Given the description of an element on the screen output the (x, y) to click on. 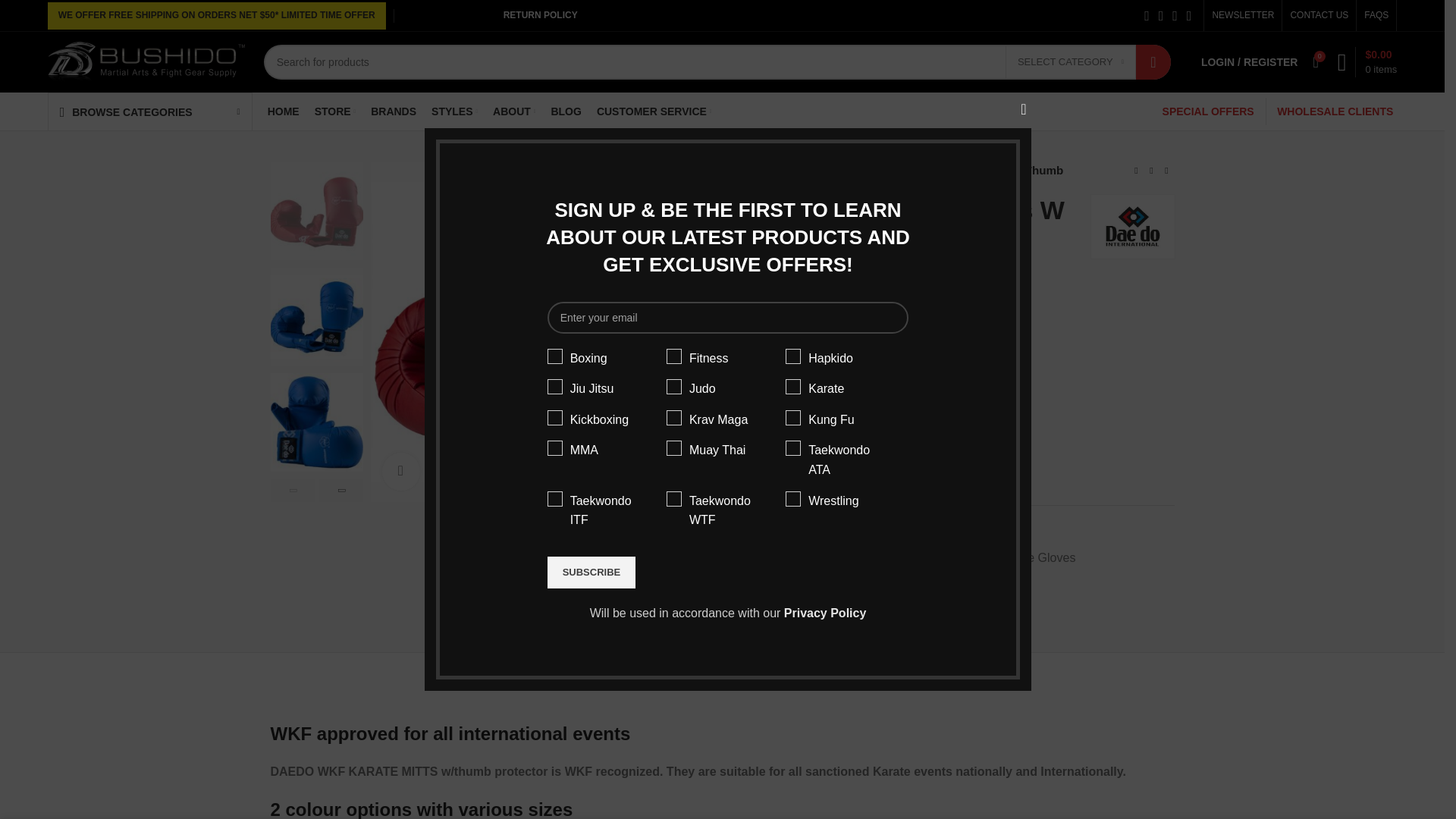
Subscribe (591, 572)
Bulk Order Form (782, 326)
SELECT CATEGORY (1070, 61)
Shopping cart (1367, 61)
My account (1249, 61)
Search for products (716, 62)
Subscribe (591, 572)
RETURN POLICY (540, 14)
CONTACT US (1319, 15)
Privacy Policy (825, 612)
SELECT CATEGORY (1070, 61)
NEWSLETTER (1242, 15)
